Given the description of an element on the screen output the (x, y) to click on. 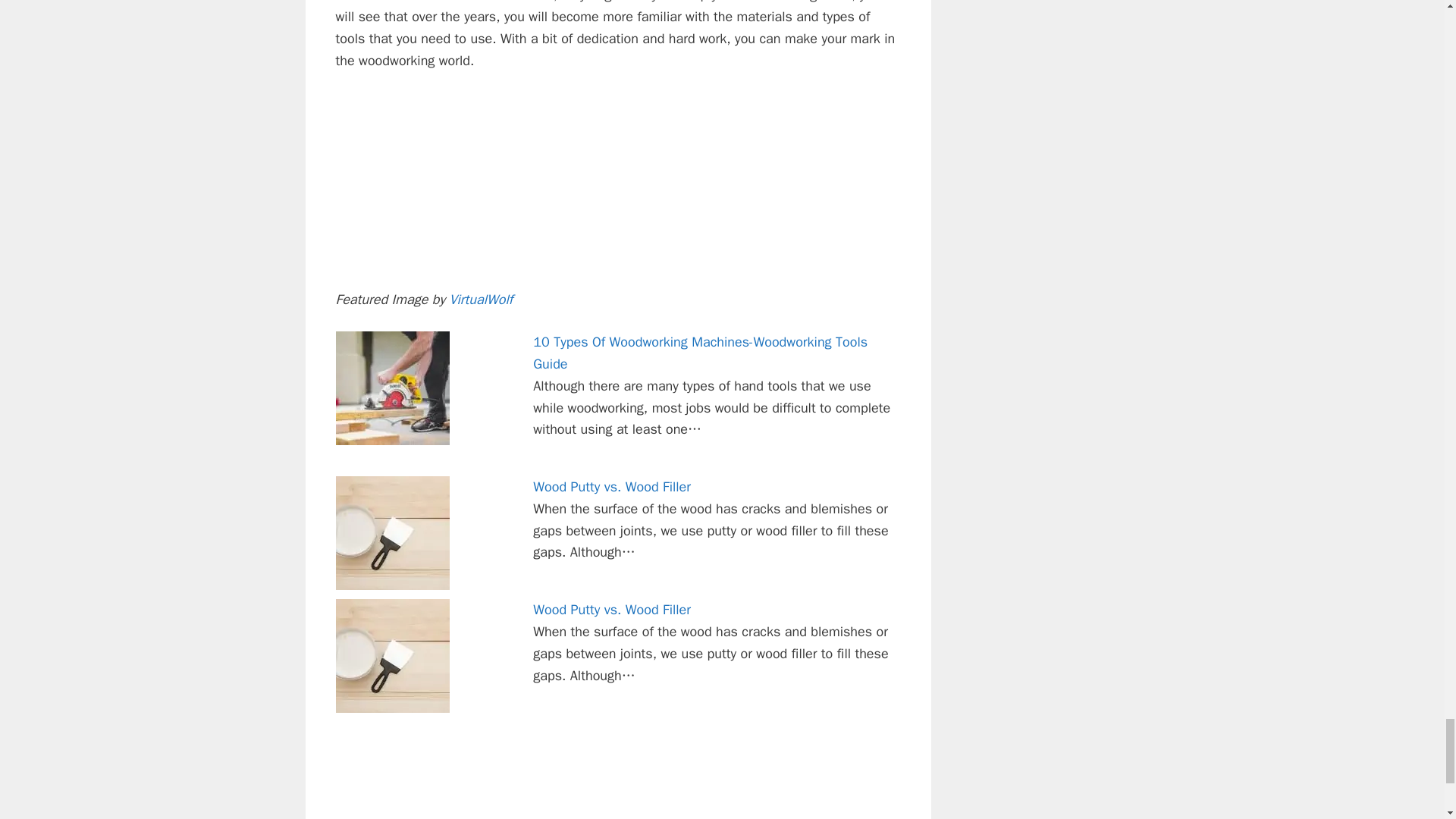
Go to VirtualWolf's photostream (480, 299)
Wood Putty vs. Wood Filler (611, 486)
VirtualWolf (480, 299)
10 Types Of Woodworking Machines-Woodworking Tools Guide (699, 352)
Wood Putty vs. Wood Filler (611, 609)
